Given the description of an element on the screen output the (x, y) to click on. 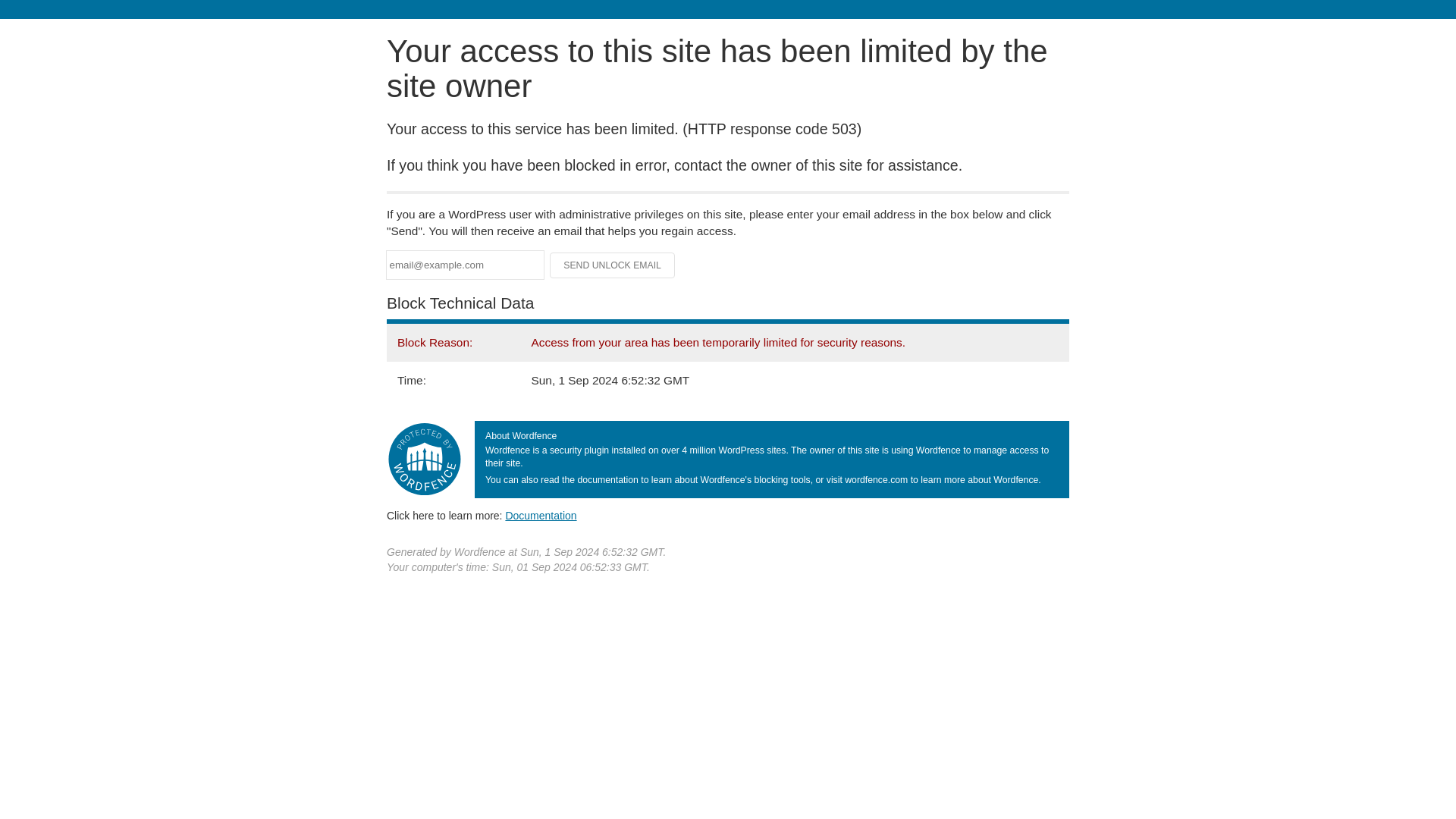
Documentation (540, 515)
Send Unlock Email (612, 265)
Send Unlock Email (612, 265)
